Given the description of an element on the screen output the (x, y) to click on. 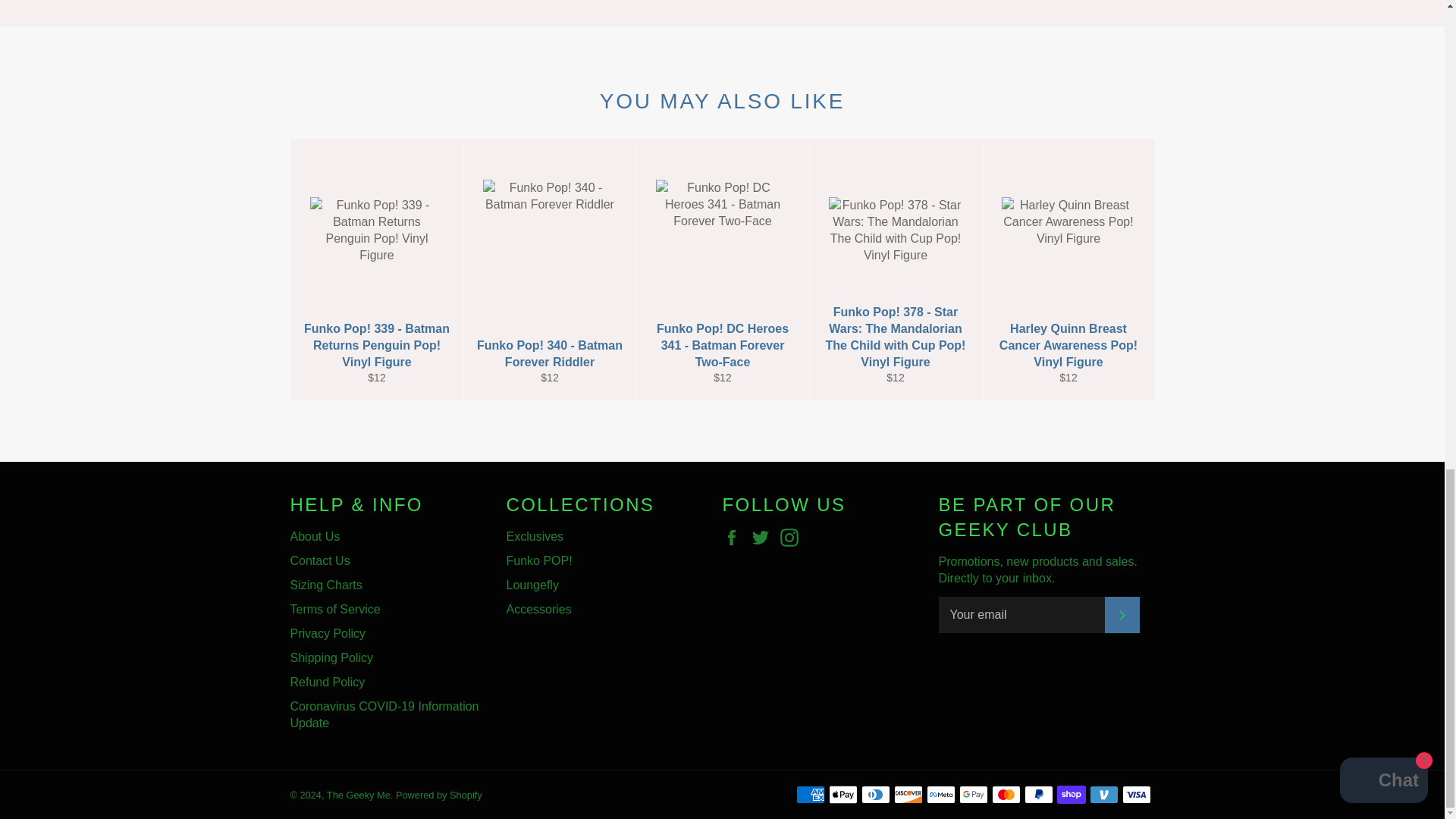
The Geeky Me on Instagram (793, 537)
The Geeky Me on Facebook (735, 537)
The Geeky Me on Twitter (764, 537)
